Given the description of an element on the screen output the (x, y) to click on. 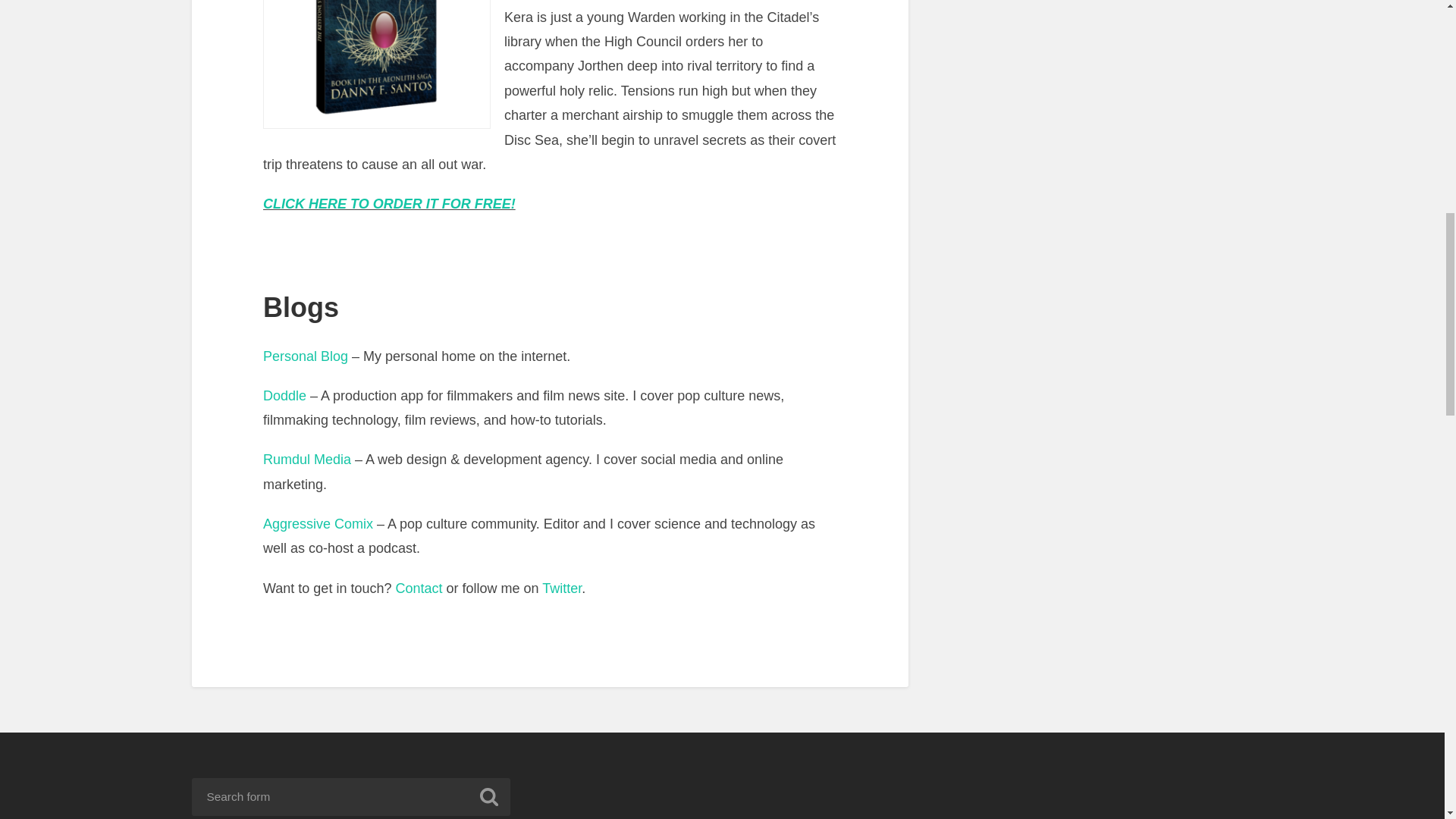
Search (488, 796)
Search (488, 796)
